Given the description of an element on the screen output the (x, y) to click on. 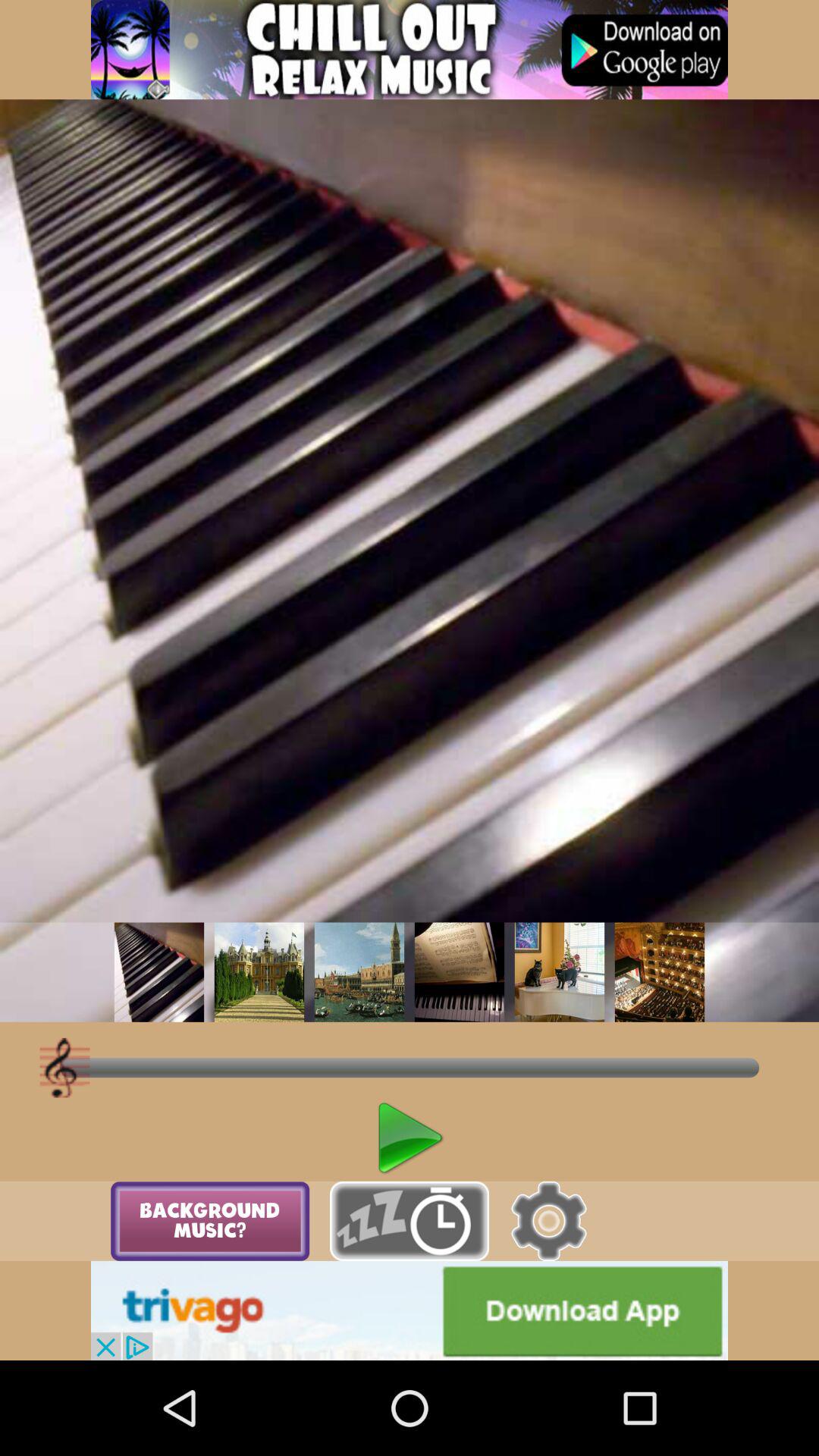
open advertisement (409, 1310)
